Given the description of an element on the screen output the (x, y) to click on. 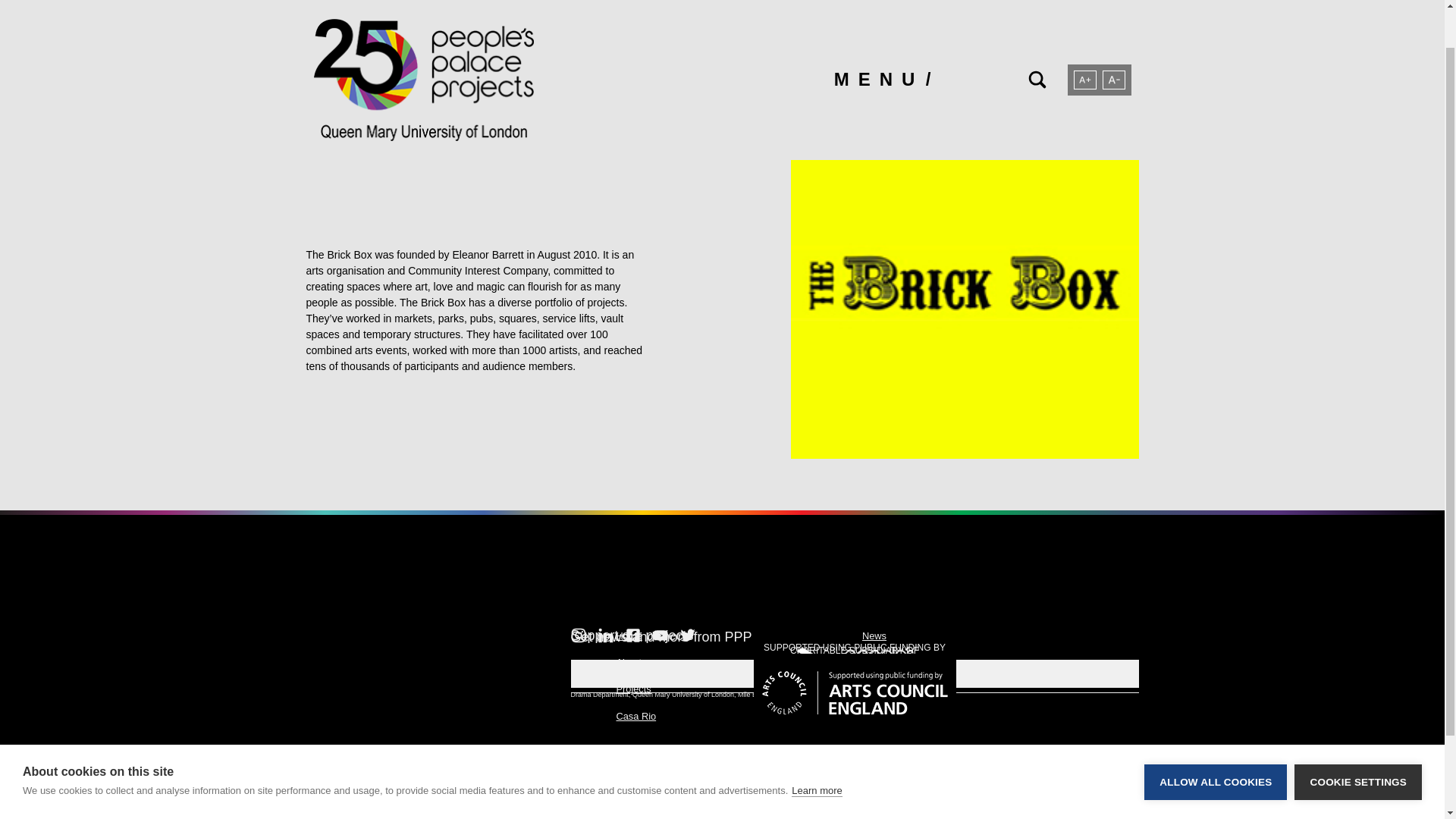
Projects (632, 688)
MENU (882, 35)
About us (634, 662)
DONATE (854, 674)
Events (876, 662)
Publications (887, 688)
The Brick Box (479, 125)
Casa Rio (635, 715)
Contact (878, 715)
News (873, 635)
Home (628, 635)
